Given the description of an element on the screen output the (x, y) to click on. 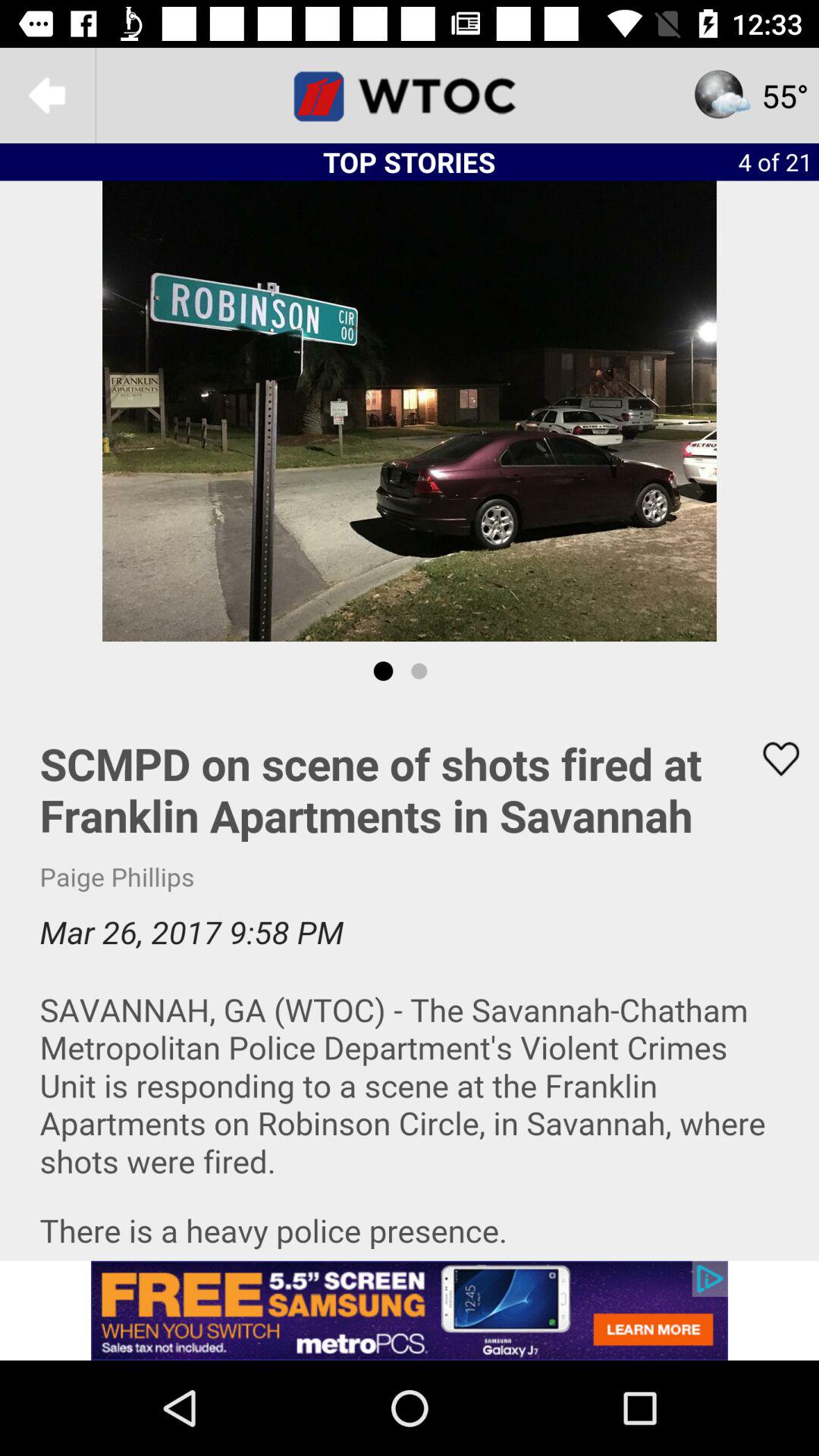
check deals (409, 95)
